Given the description of an element on the screen output the (x, y) to click on. 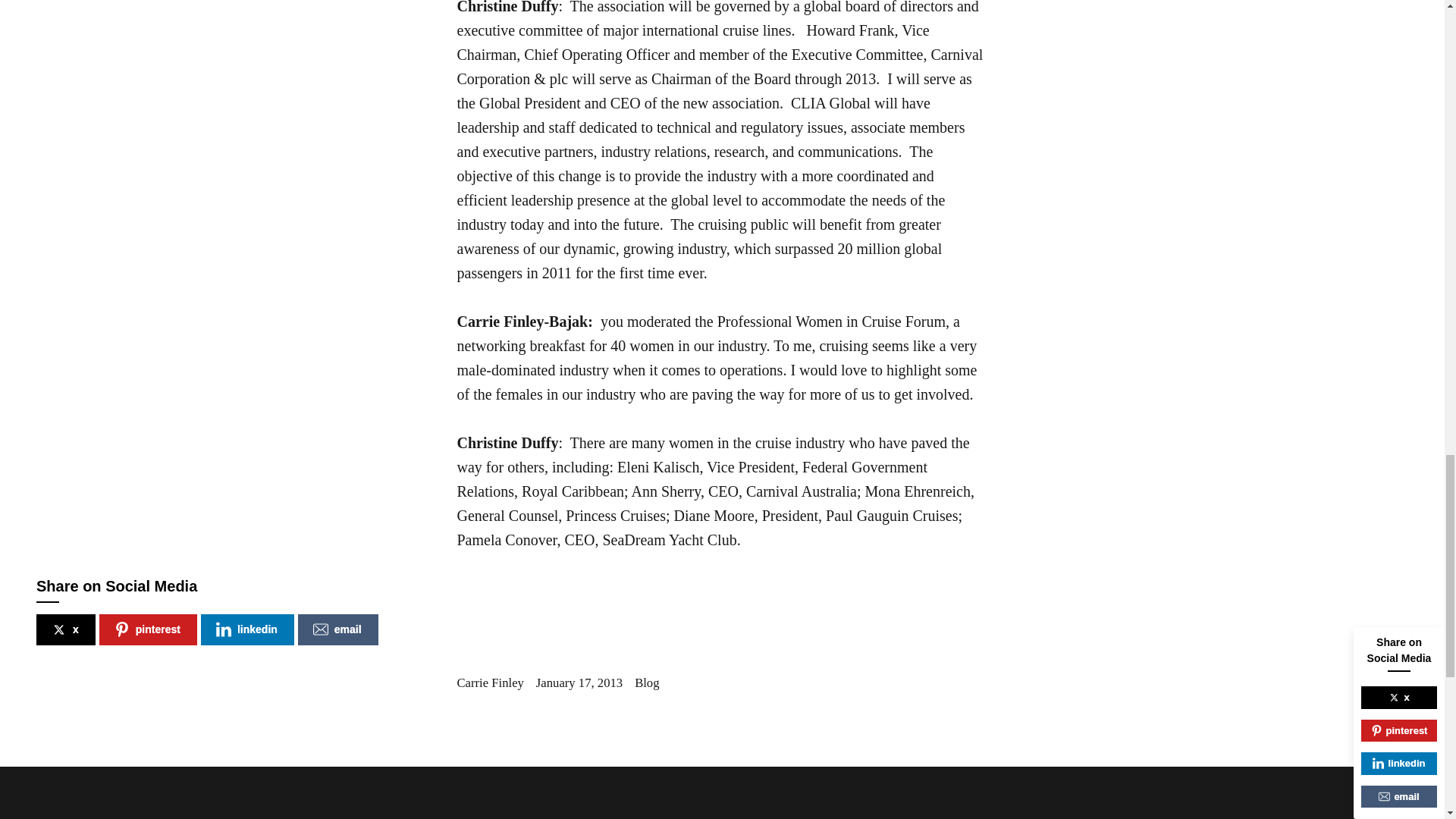
Blog (646, 682)
pinterest (147, 629)
January 17, 2013 (579, 682)
x (66, 629)
linkedin (247, 629)
Carrie Finley (489, 682)
email (338, 629)
